Given the description of an element on the screen output the (x, y) to click on. 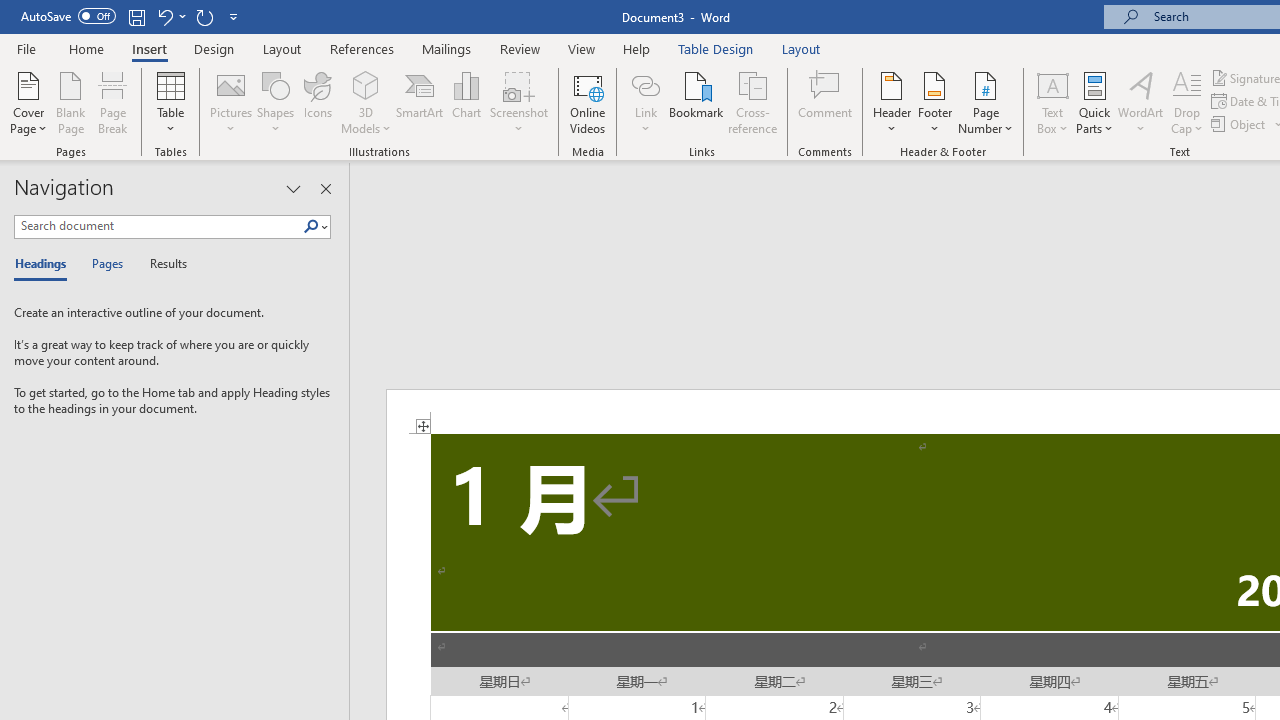
Save (136, 15)
Search (311, 227)
Drop Cap (1187, 102)
Search (315, 227)
Object... (1240, 124)
SmartArt... (419, 102)
Quick Access Toolbar (131, 16)
Screenshot (518, 102)
3D Models (366, 102)
Repeat Doc Close (204, 15)
3D Models (366, 84)
Class: NetUIImage (311, 226)
Table (170, 102)
File Tab (26, 48)
Link (645, 84)
